Given the description of an element on the screen output the (x, y) to click on. 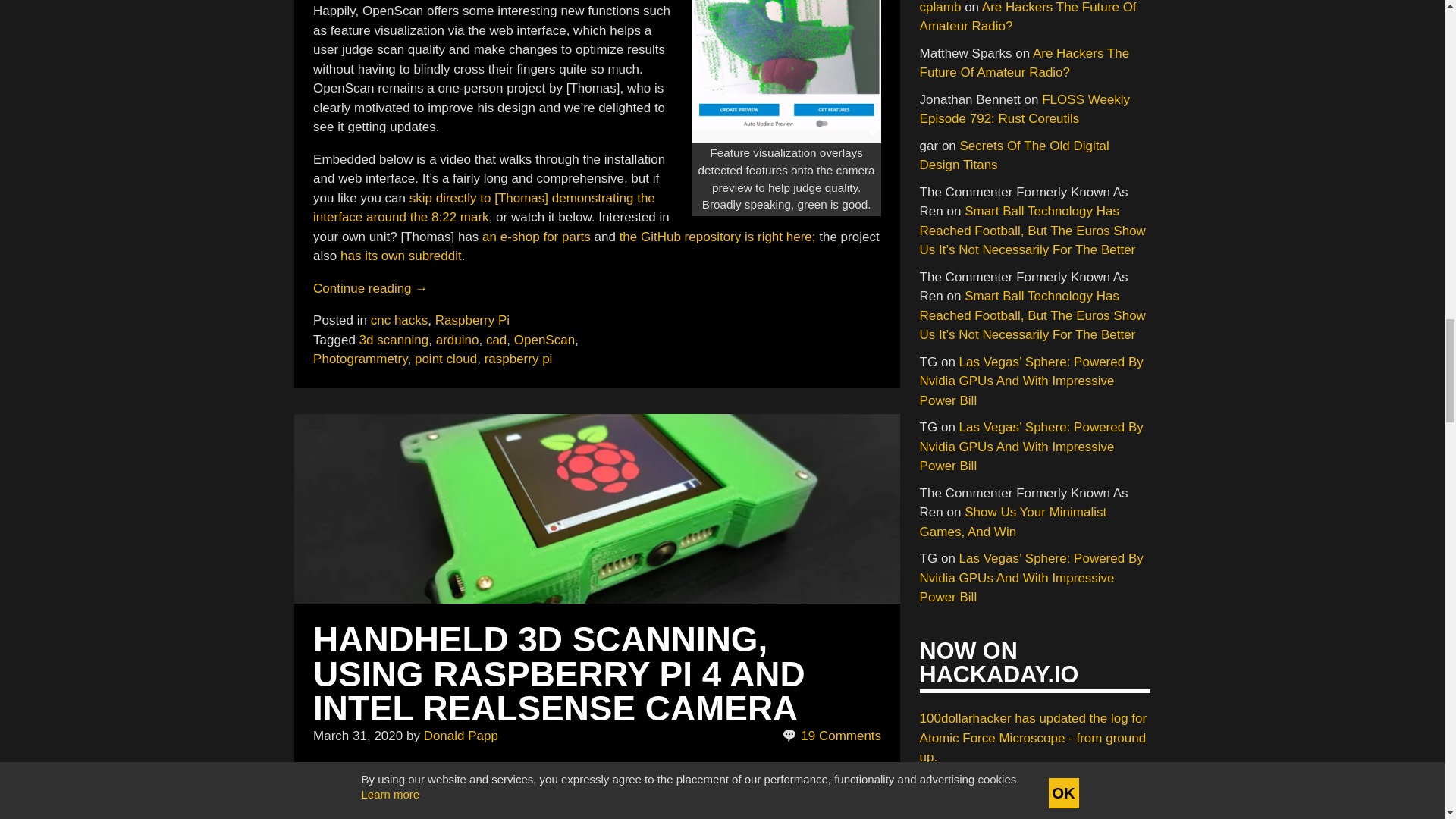
March 31, 2020 - 10:00 pm (358, 735)
Posts by Donald Papp (460, 735)
